Given the description of an element on the screen output the (x, y) to click on. 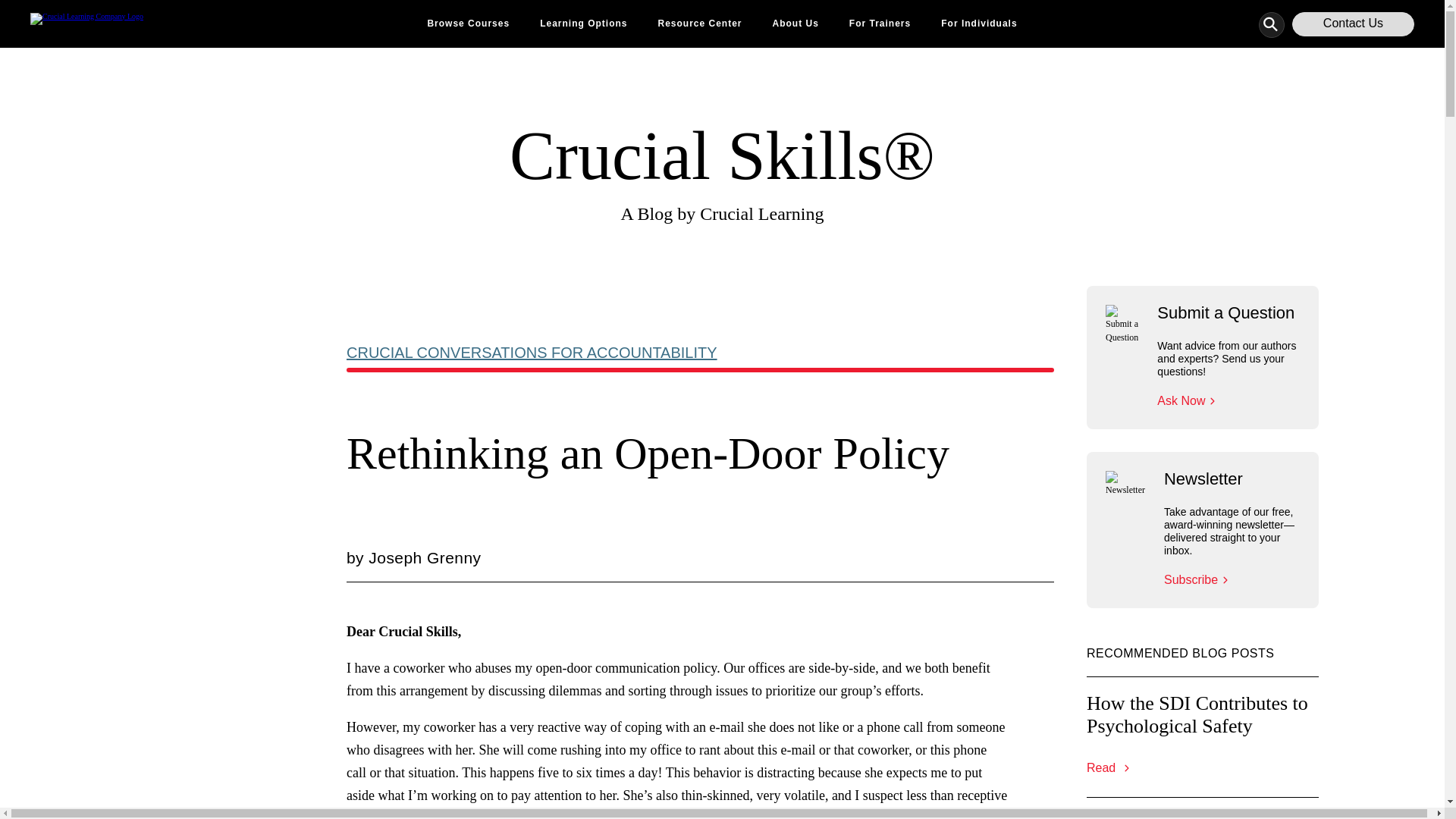
About Us (795, 24)
Contact Us (1352, 24)
For Individuals (978, 24)
Browse Courses (467, 24)
Resource Center (699, 24)
Learning Options (583, 24)
For Trainers (879, 24)
